Given the description of an element on the screen output the (x, y) to click on. 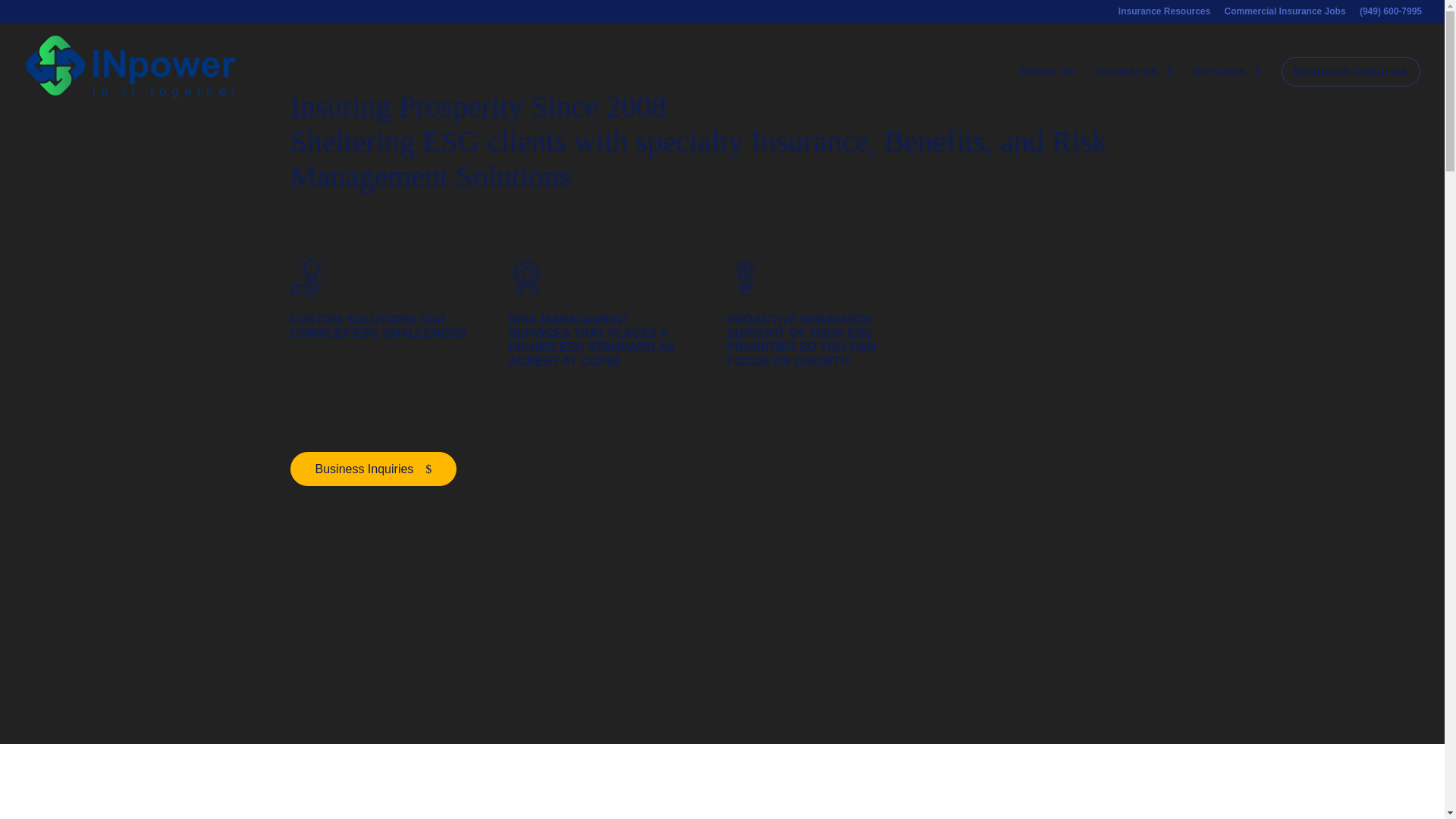
medallion-0D1D56 (526, 277)
investment-growth-0D1D56 (744, 277)
Business Inquiries (1351, 71)
light-bulb-hand-0D1D56 (307, 277)
Commercial Insurance Jobs (1284, 14)
Industries (1134, 88)
Services (1226, 88)
Insurance Resources (1163, 14)
About Us (1047, 88)
